Given the description of an element on the screen output the (x, y) to click on. 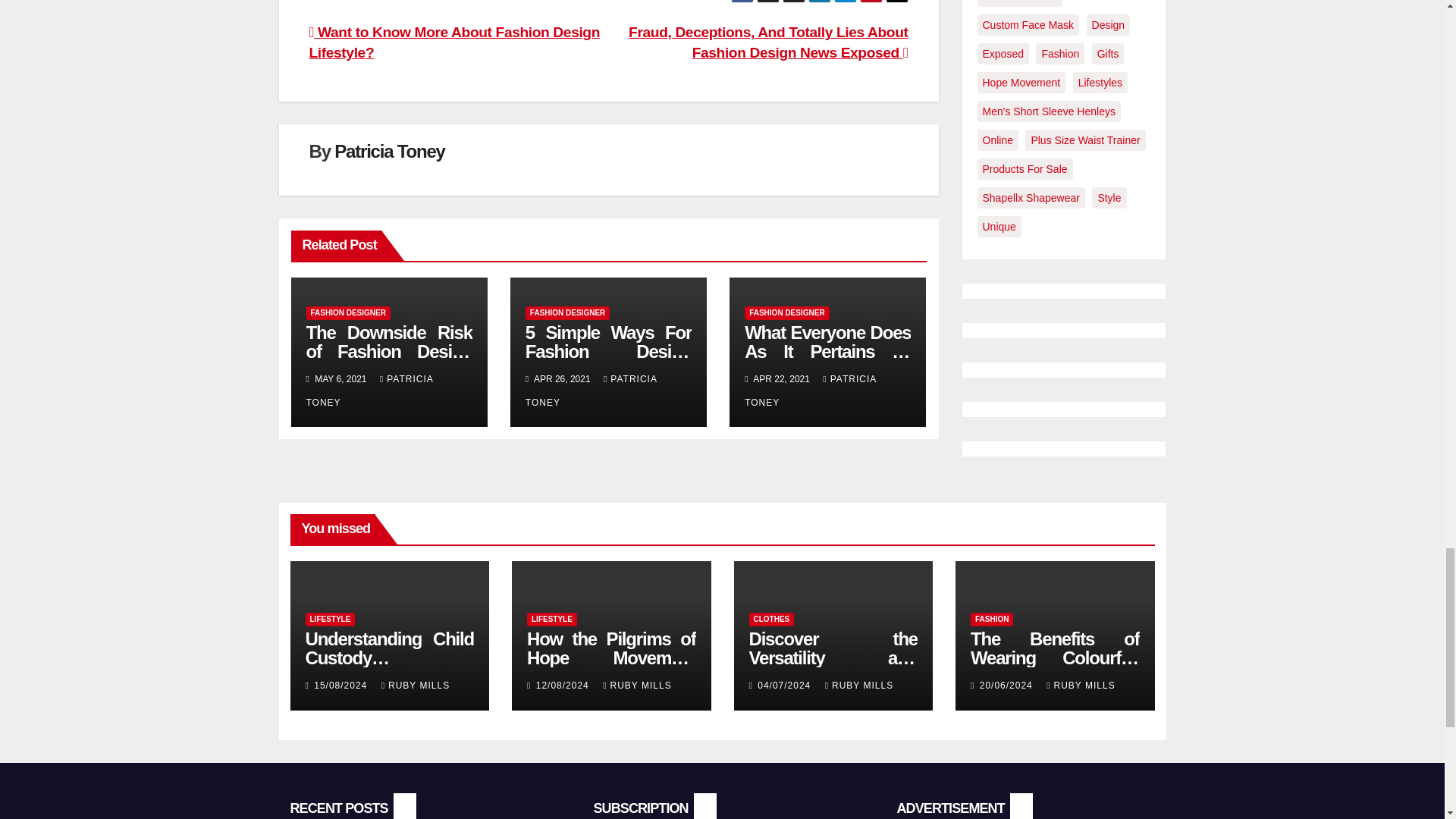
Patricia Toney (389, 150)
Permalink to: 5 Simple Ways For Fashion Design News Found (608, 351)
Want to Know More About Fashion Design Lifestyle? (453, 42)
FASHION DESIGNER (347, 313)
PATRICIA TONEY (369, 390)
